Given the description of an element on the screen output the (x, y) to click on. 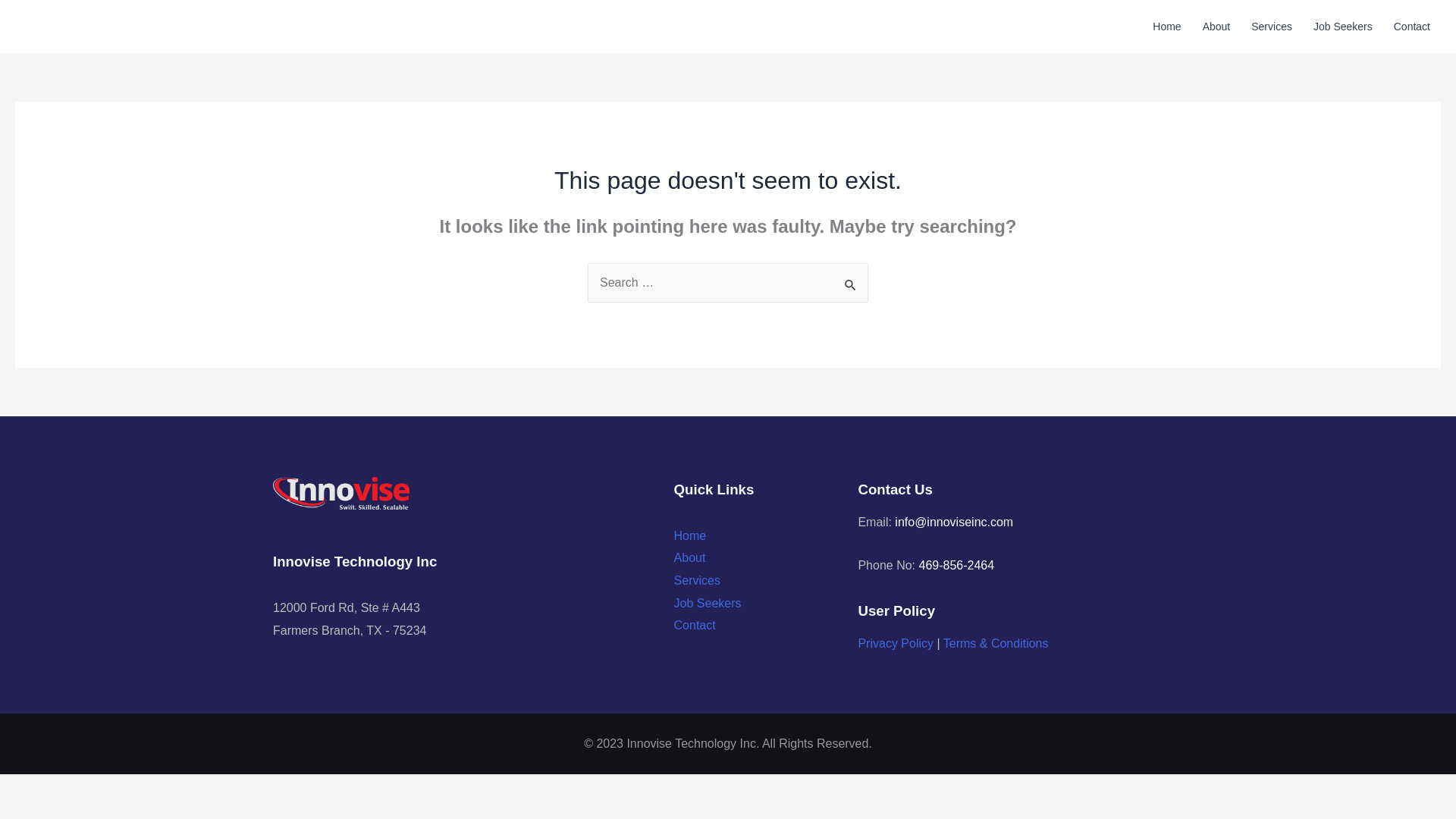
About (1216, 26)
Services (1271, 26)
Job Seekers (1343, 26)
About (690, 557)
Home (1166, 26)
Job Seekers (707, 603)
Home (690, 535)
Contact (695, 625)
Contact (1412, 26)
Services (697, 580)
Privacy Policy (895, 643)
